Given the description of an element on the screen output the (x, y) to click on. 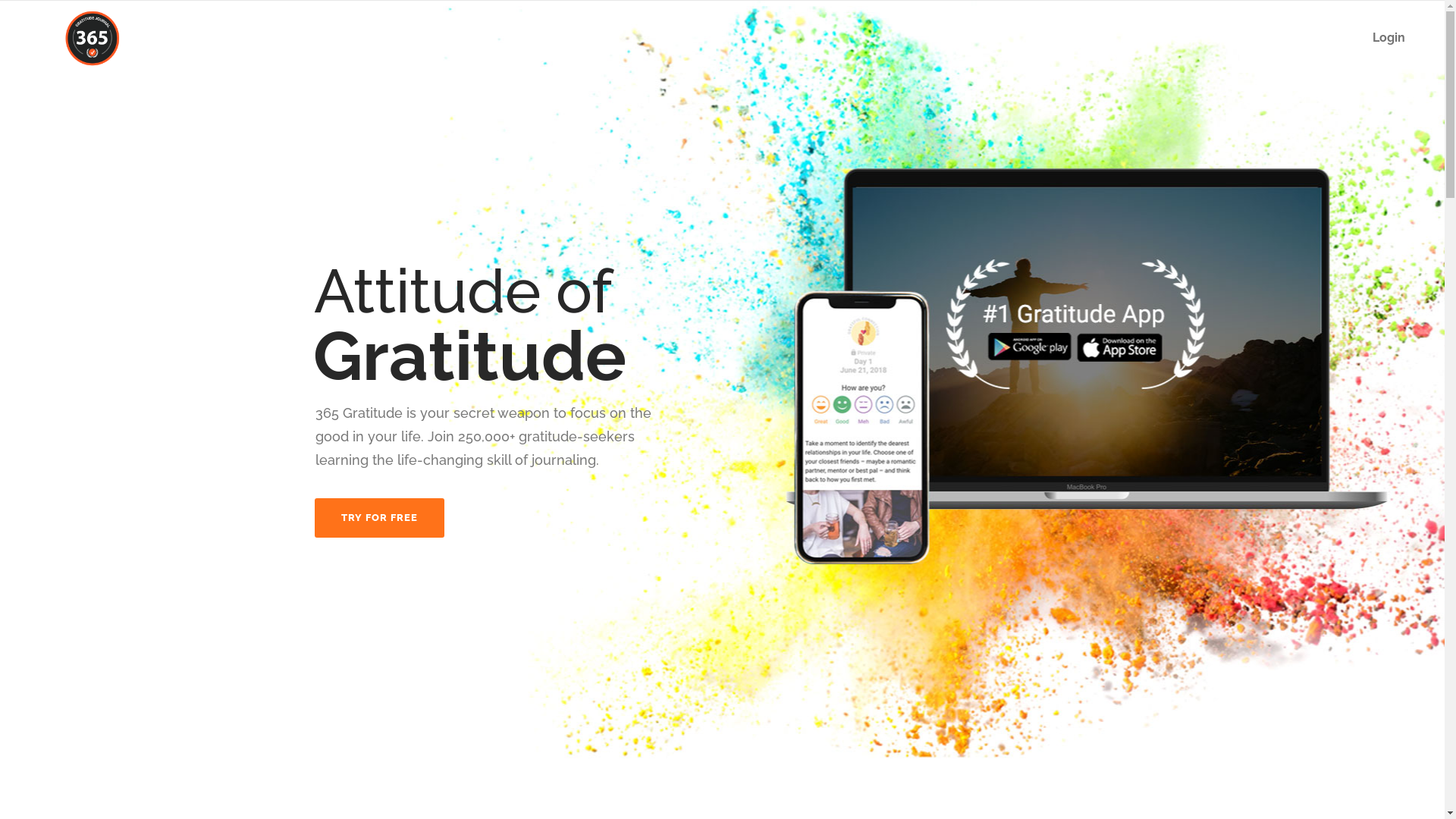
TRY FOR FREE Element type: text (379, 517)
Login Element type: text (1388, 37)
